Given the description of an element on the screen output the (x, y) to click on. 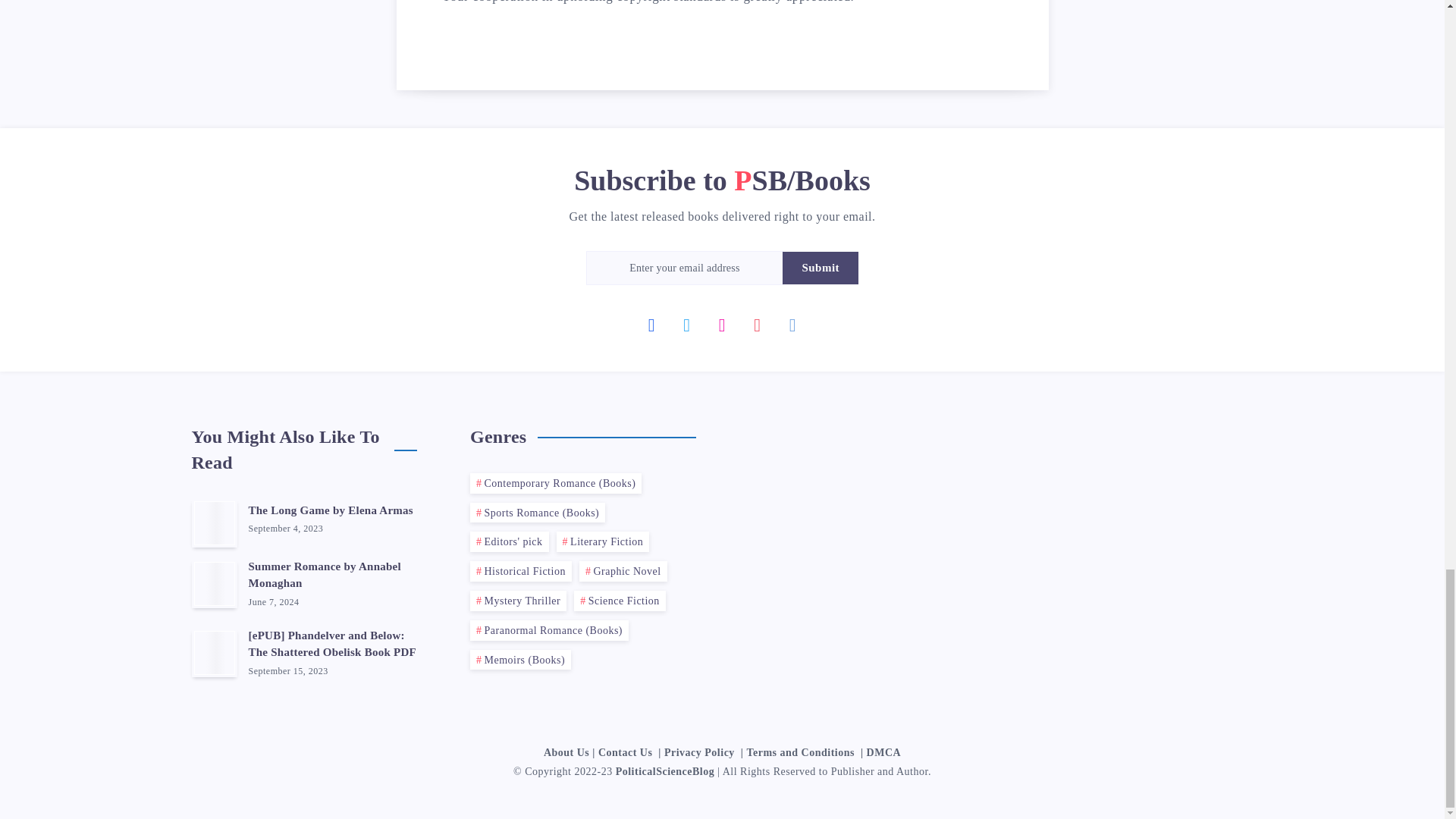
The Long Game by Elena Armas (330, 512)
Editors' pick (509, 541)
Submit (821, 267)
Summer Romance by Annabel Monaghan (324, 576)
